Given the description of an element on the screen output the (x, y) to click on. 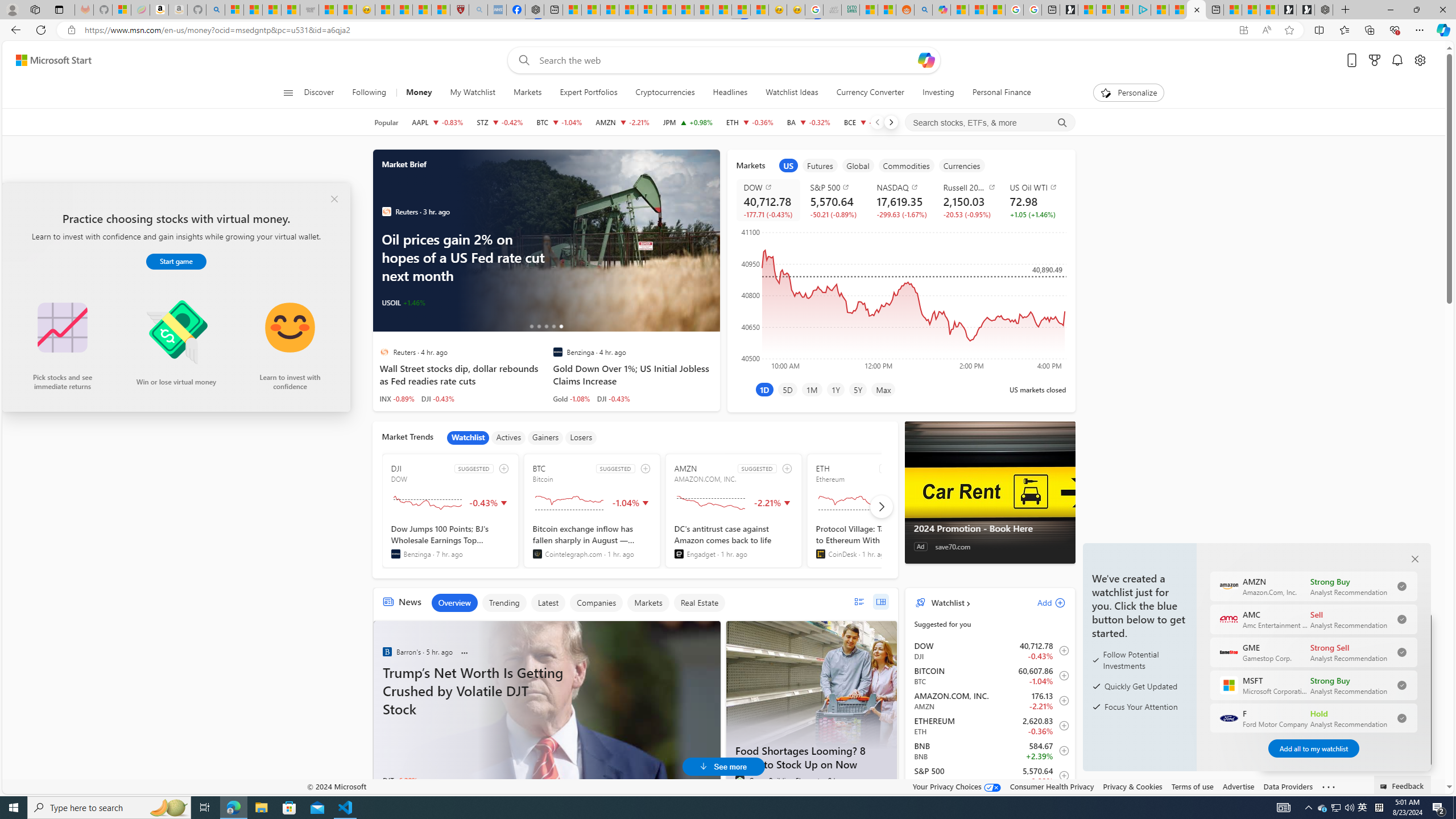
grid layout (880, 601)
12 Popular Science Lies that Must be Corrected (440, 9)
Losers (580, 437)
Markets (647, 602)
Microsoft Start (1178, 9)
Start game (175, 261)
Search stocks, ETFs, & more (989, 122)
MSNBC - MSN (868, 9)
DJI -0.43% (613, 397)
Your Privacy Choices (956, 785)
Navy Quest (831, 9)
View site information (70, 29)
Personal Finance (996, 92)
